Given the description of an element on the screen output the (x, y) to click on. 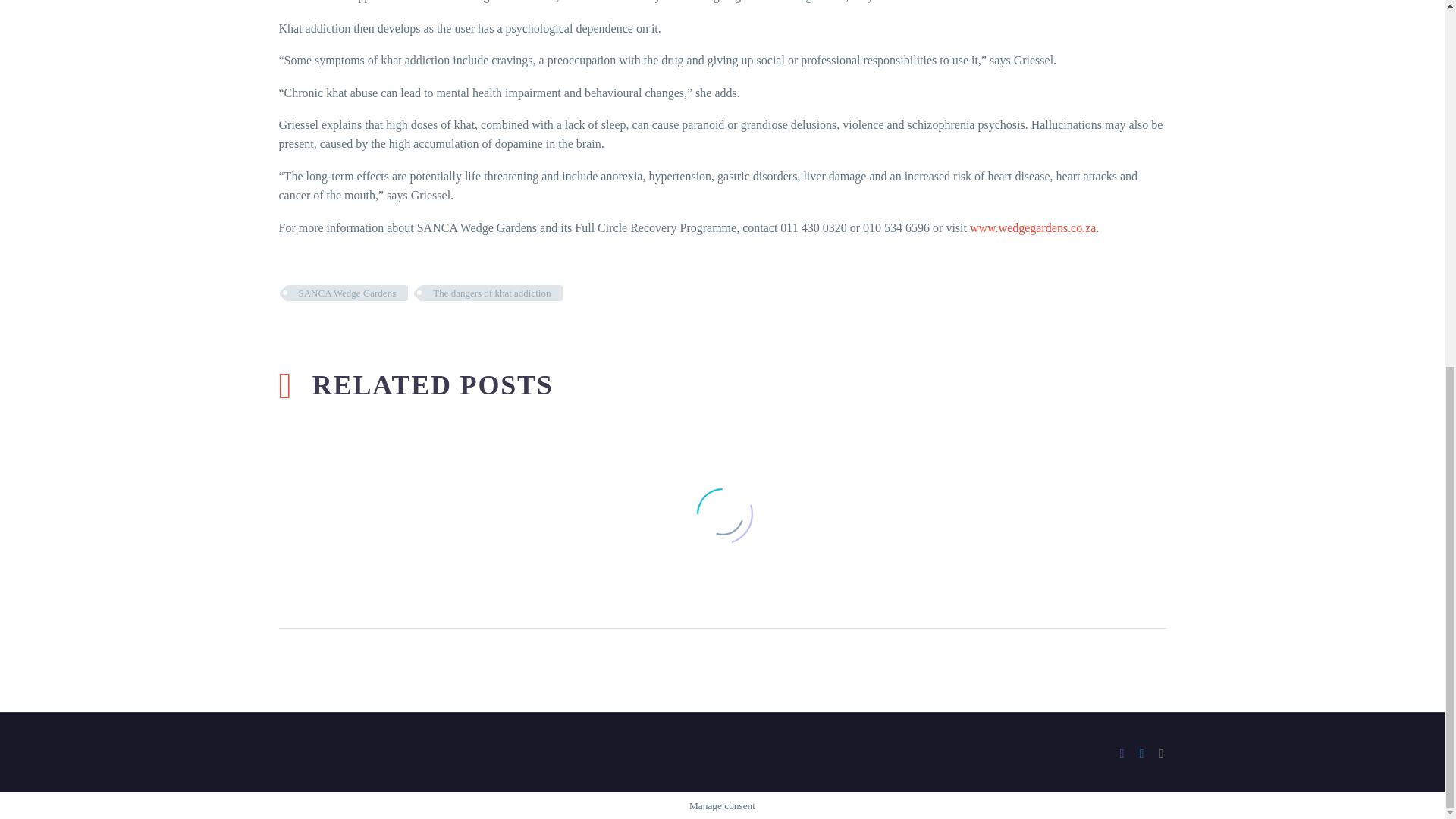
Instagram (1161, 753)
LinkedIn (1141, 753)
Facebook (1122, 753)
SANCA Wedge Gardens (347, 293)
www.wedgegardens.co.za (1032, 227)
The dangers of khat addiction (491, 293)
